Given the description of an element on the screen output the (x, y) to click on. 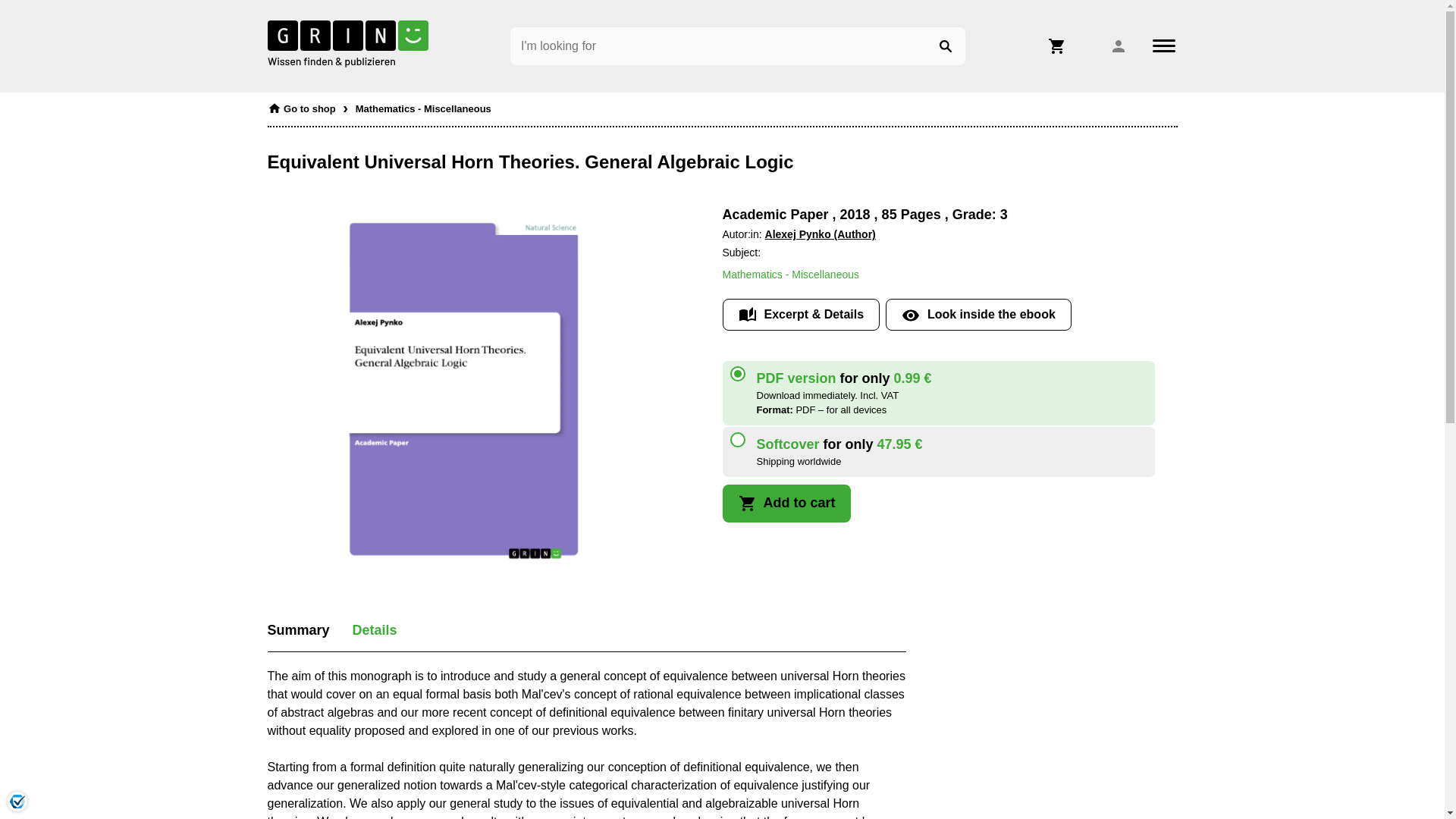
Mathematics - Miscellaneous (790, 274)
Privacy settings (17, 801)
Look inside the ebook (978, 314)
Summary (297, 629)
Mathematics - Miscellaneous (423, 104)
Summary (297, 629)
Go to shop (300, 104)
3rd party ad content (1062, 719)
Add to cart (786, 503)
Details (374, 629)
Details (374, 629)
